Given the description of an element on the screen output the (x, y) to click on. 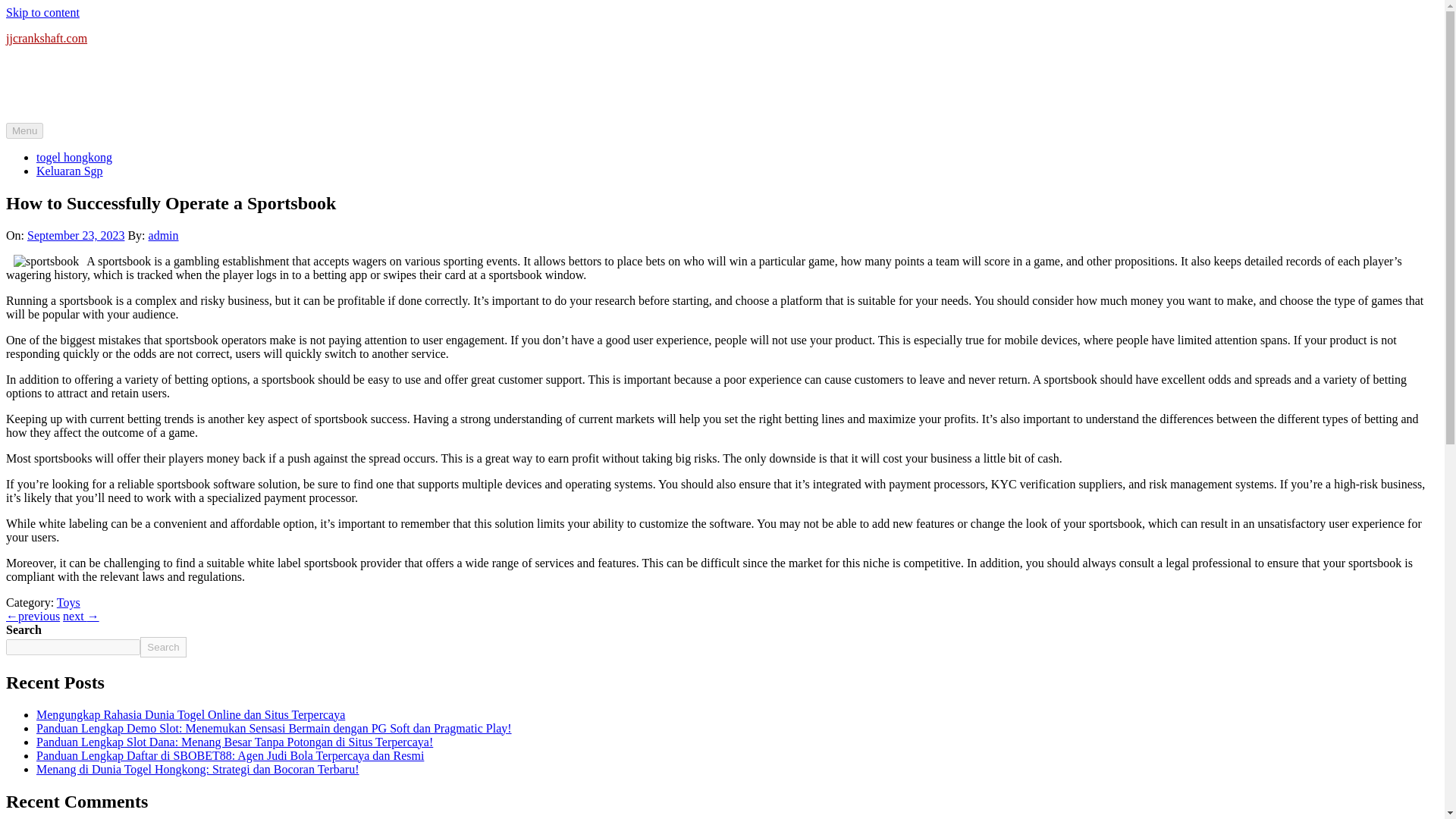
September 23, 2023 (75, 235)
Skip to content (42, 11)
Mengungkap Rahasia Dunia Togel Online dan Situs Terpercaya (190, 714)
Toys (68, 602)
Menu (24, 130)
jjcrankshaft.com (46, 38)
Search (162, 647)
togel hongkong (74, 156)
